Given the description of an element on the screen output the (x, y) to click on. 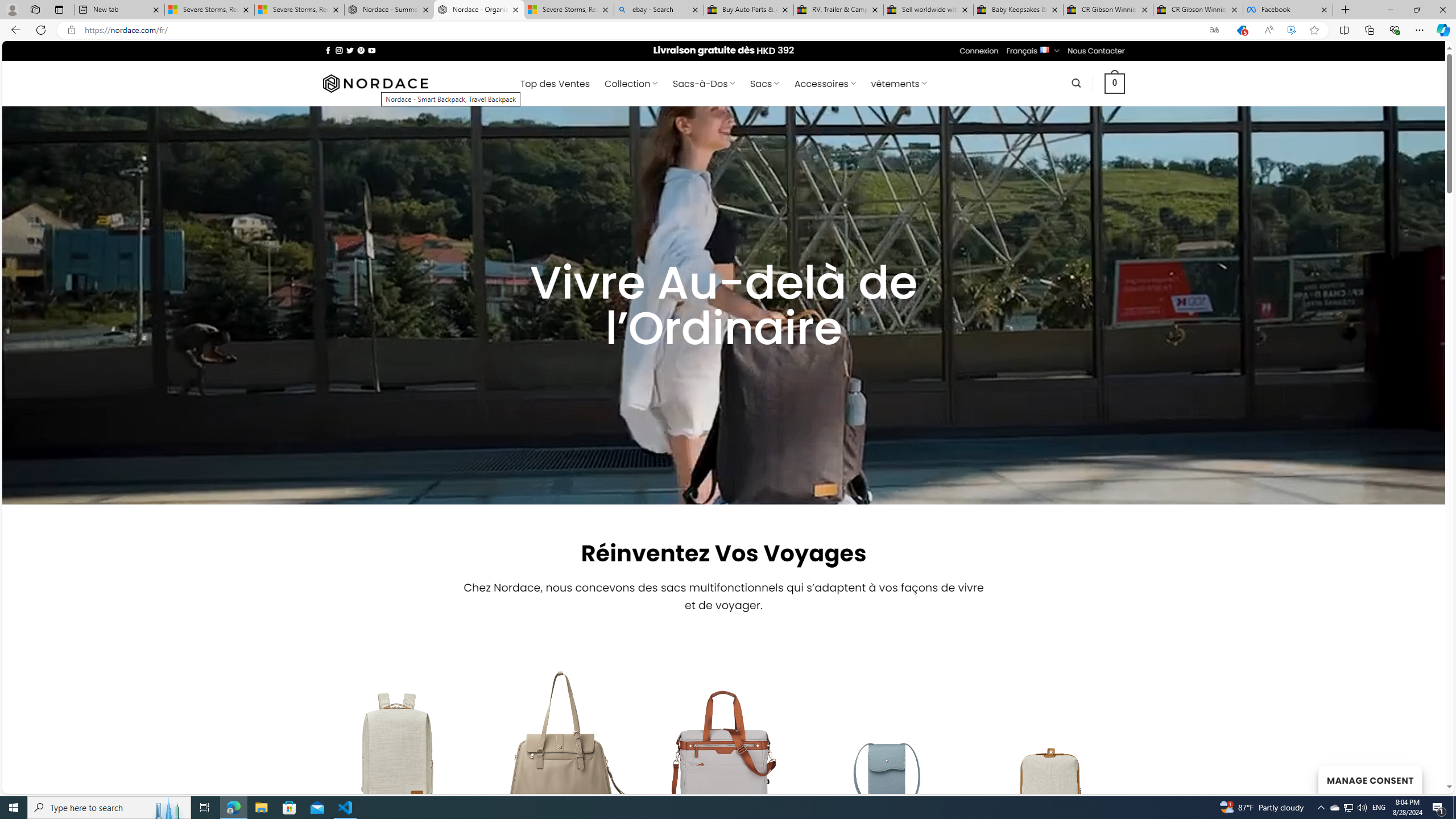
  0   (1115, 83)
 Top des Ventes (554, 83)
Nous suivre sur Facebook (327, 49)
Show translate options (1213, 29)
MANAGE CONSENT (1369, 779)
